Given the description of an element on the screen output the (x, y) to click on. 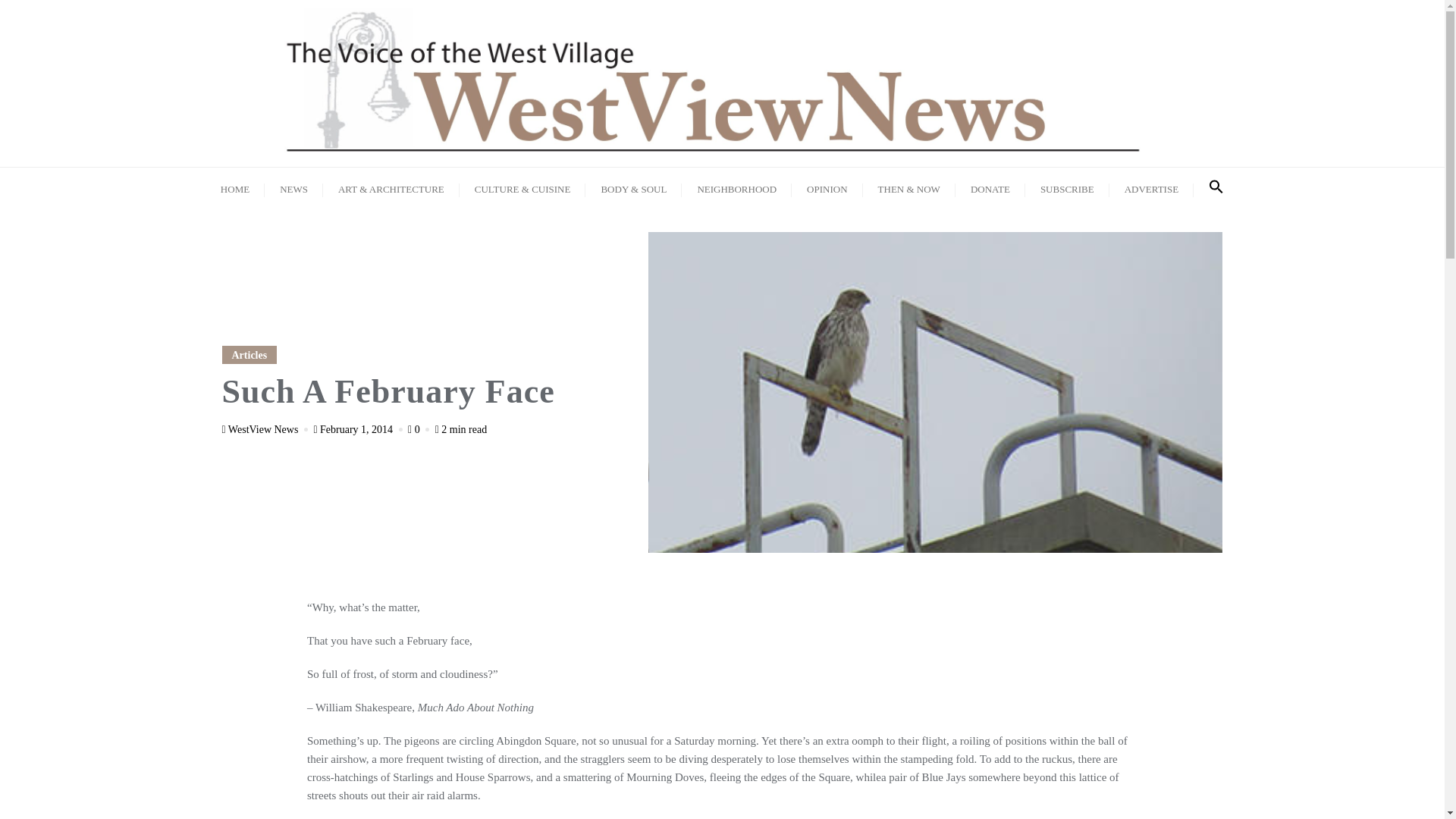
ADVERTISE (1151, 188)
Articles (248, 354)
OPINION (826, 188)
NEWS (293, 188)
0 (419, 429)
DONATE (990, 188)
2 min read (461, 429)
February 1, 2014 (358, 429)
NEIGHBORHOOD (736, 188)
HOME (234, 188)
SUBSCRIBE (1067, 188)
WestView News (265, 429)
